Given the description of an element on the screen output the (x, y) to click on. 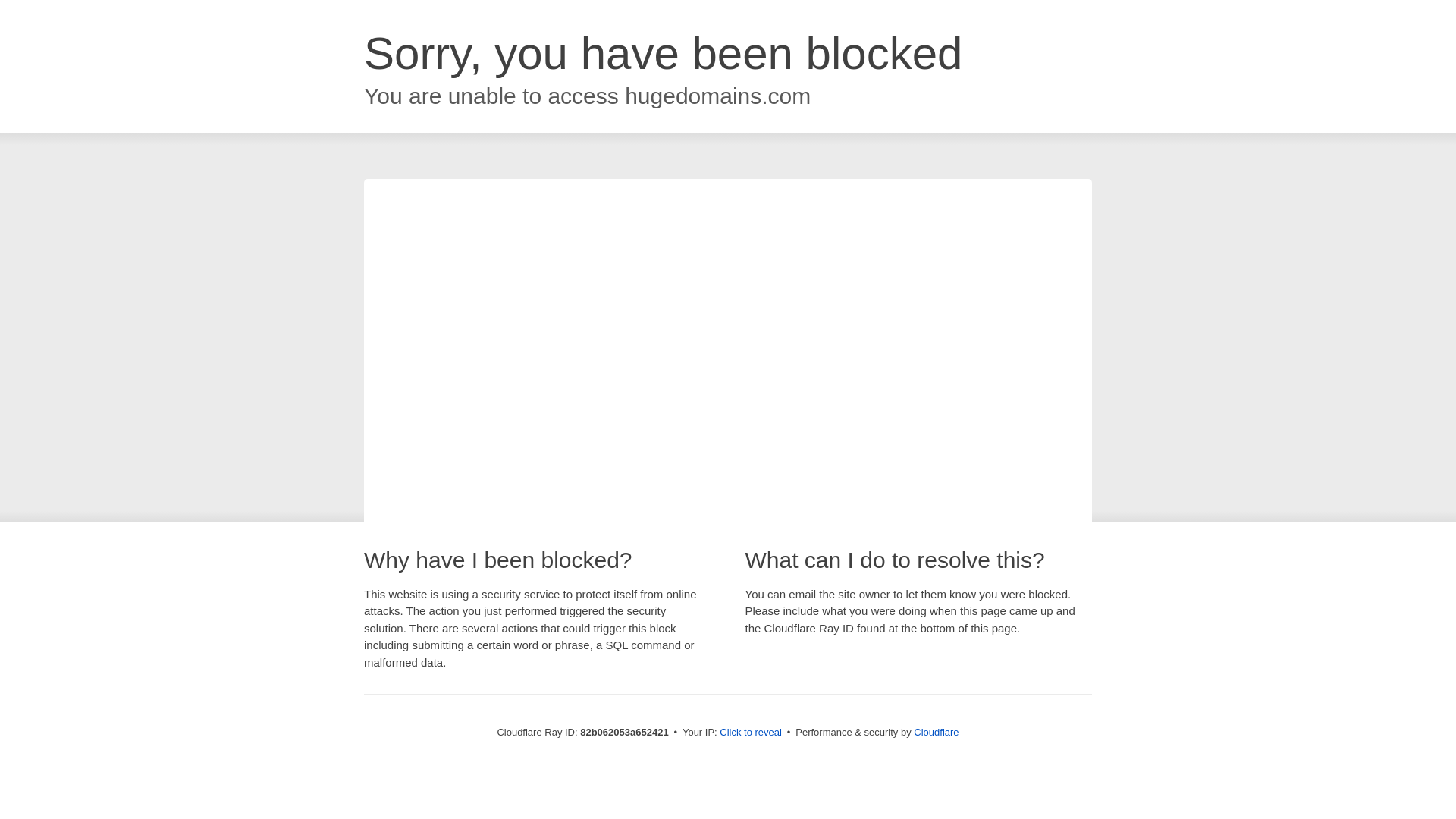
Click to reveal Element type: text (750, 732)
Cloudflare Element type: text (935, 731)
